Given the description of an element on the screen output the (x, y) to click on. 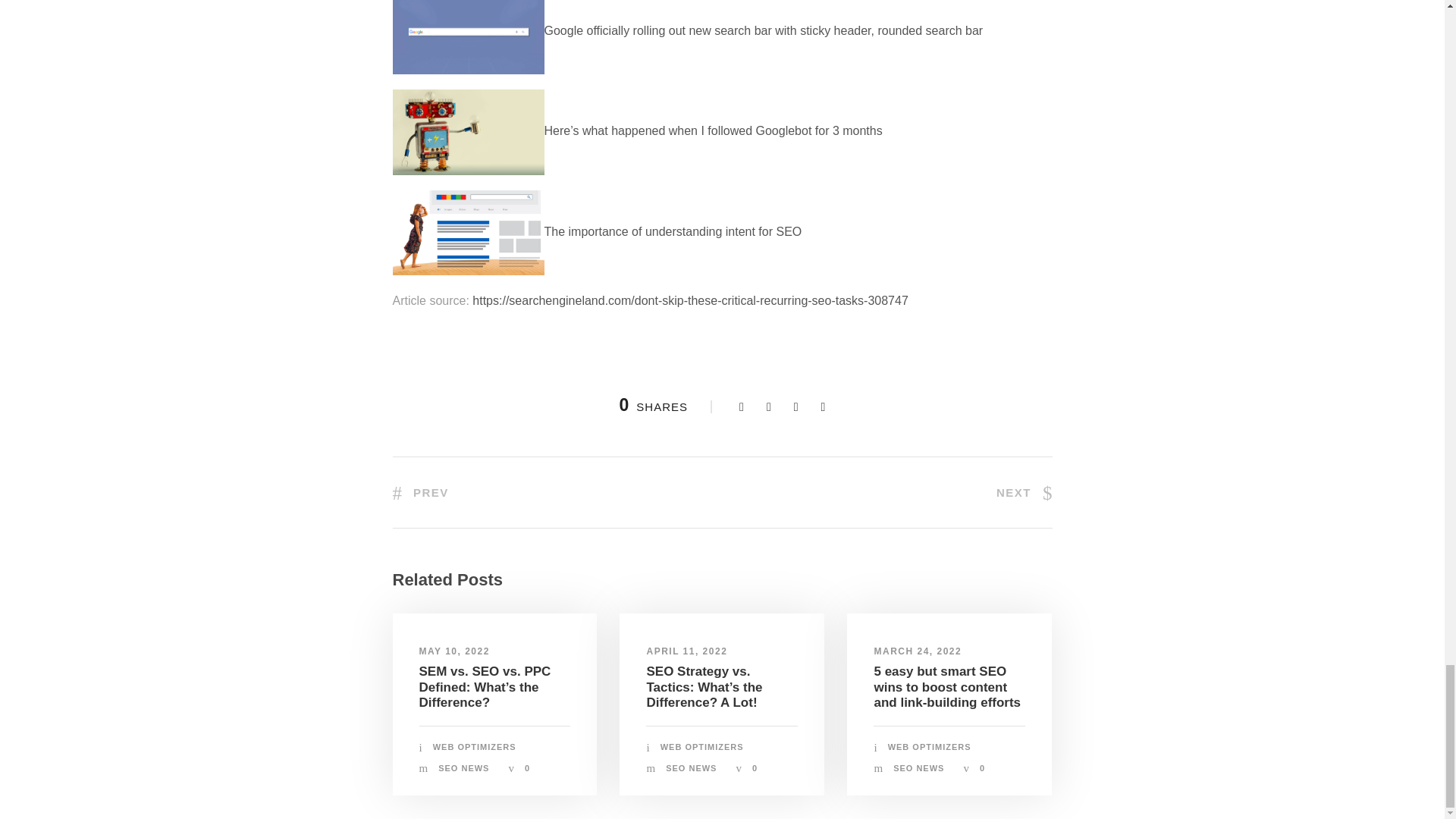
SEO NEWS (463, 768)
NEXT (1023, 492)
WEB OPTIMIZERS (474, 746)
APRIL 11, 2022 (686, 651)
PREV (420, 492)
Posts by Web Optimizers (702, 746)
The importance of understanding intent for SEO (597, 231)
MAY 10, 2022 (454, 651)
Posts by Web Optimizers (474, 746)
